Given the description of an element on the screen output the (x, y) to click on. 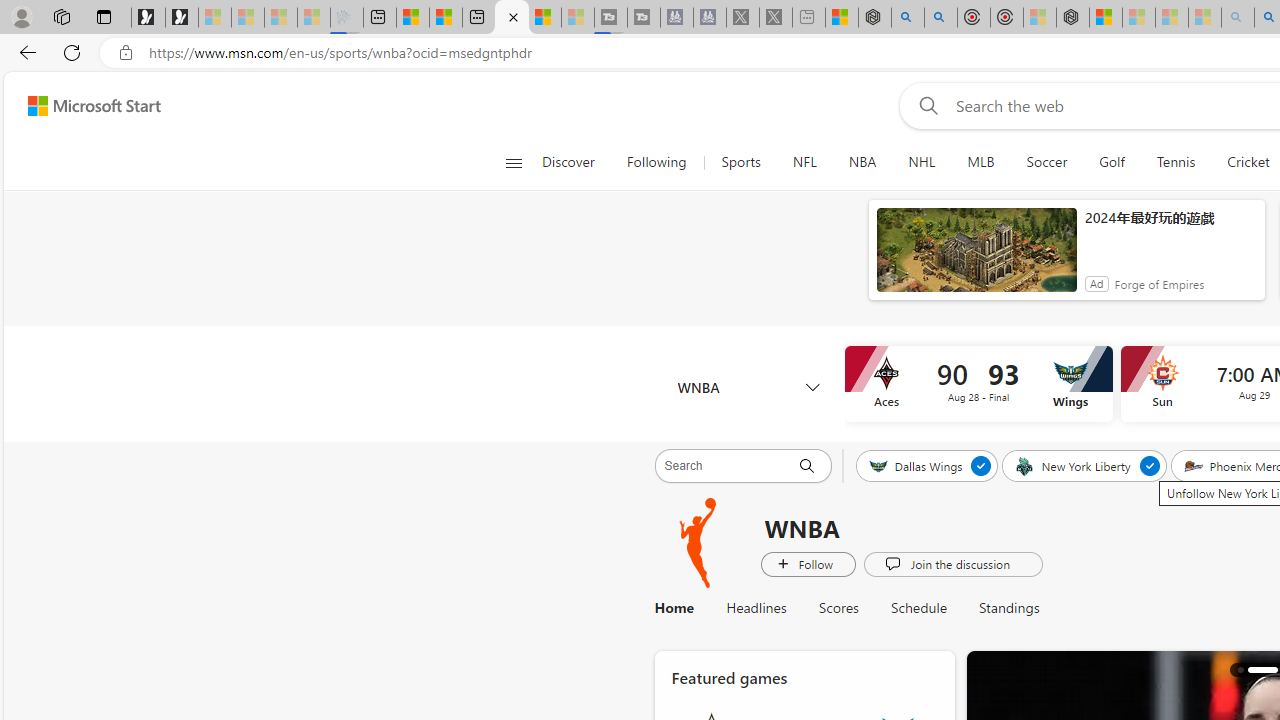
Tennis (1176, 162)
Dallas Wings (916, 465)
Join the discussion (952, 563)
Golf (1111, 162)
Tennis (1175, 162)
Follow WNBA 2024 (808, 563)
NBA (862, 162)
Skip to content (86, 105)
